Given the description of an element on the screen output the (x, y) to click on. 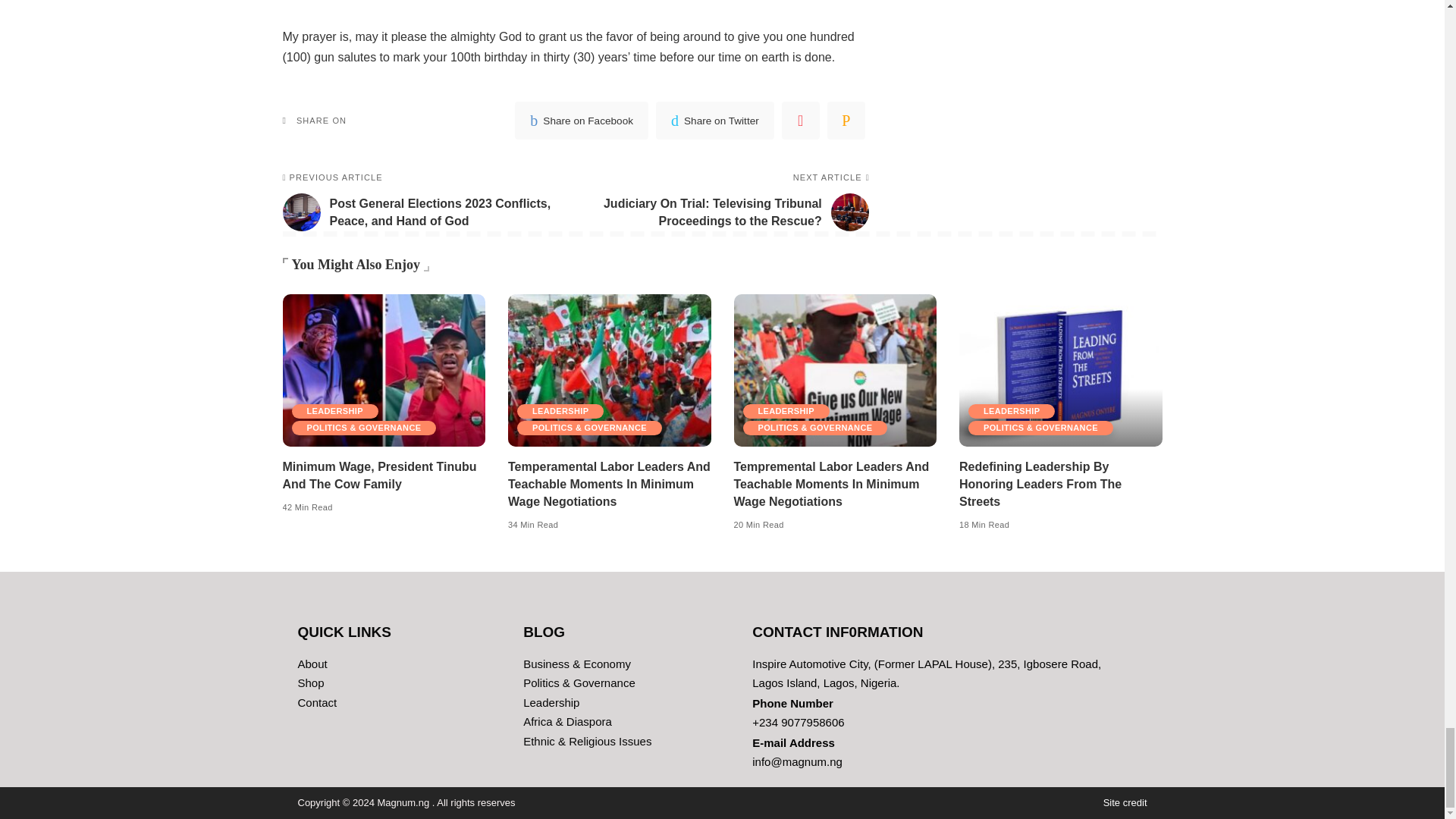
Redefining Leadership By Honoring Leaders From The Streets (1040, 483)
Share on Facebook (581, 120)
Share on Twitter (715, 120)
Minimum Wage, President Tinubu And The Cow Family (383, 370)
Redefining Leadership By Honoring Leaders From The Streets (1060, 370)
Minimum Wage, President Tinubu And The Cow Family (379, 475)
